Given the description of an element on the screen output the (x, y) to click on. 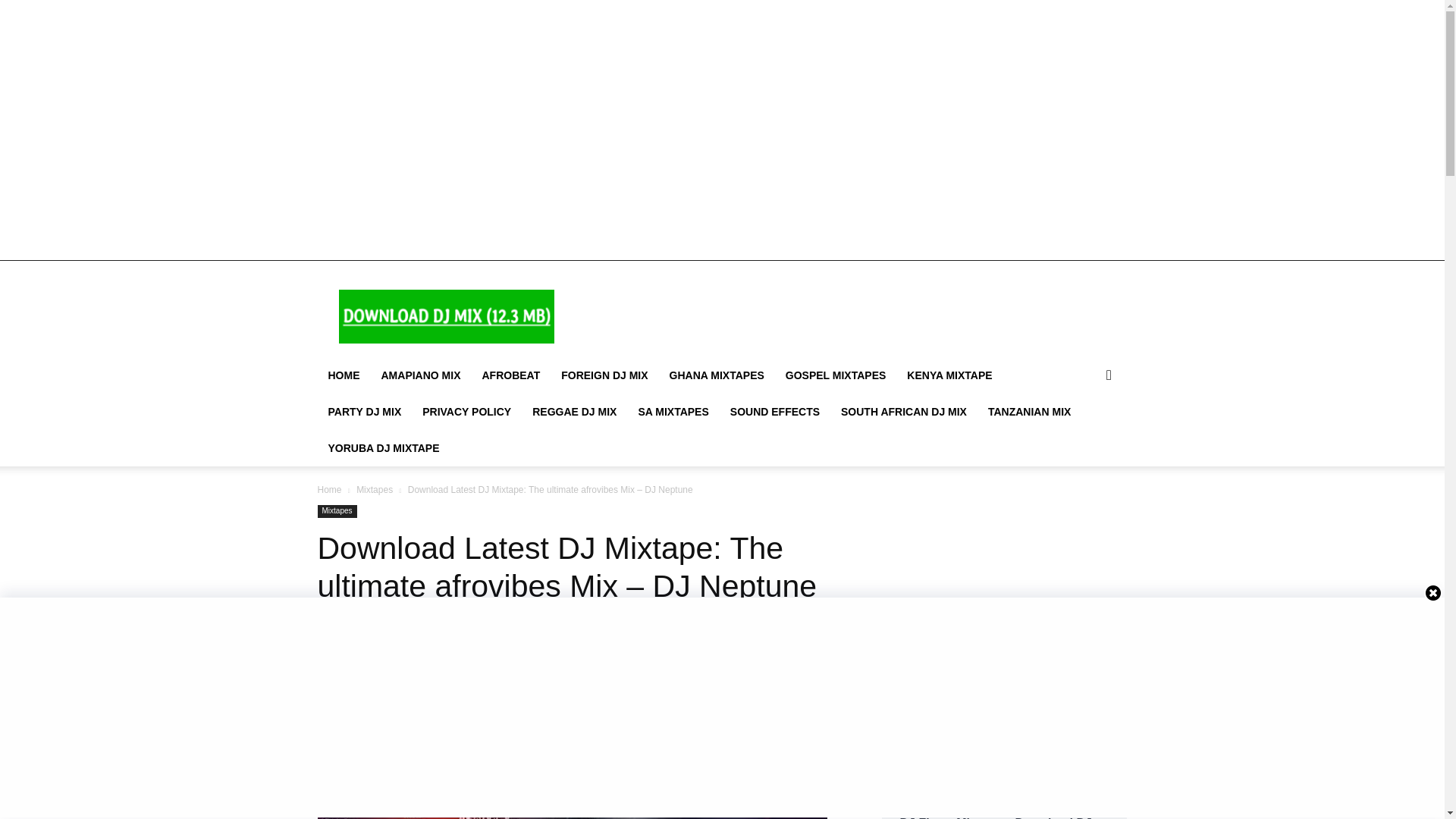
KENYA MIXTAPE (949, 375)
YORUBA DJ MIXTAPE (383, 447)
PARTY DJ MIX (364, 411)
Mixtapes (374, 489)
AMAPIANO MIX (419, 375)
TANZANIAN MIX (1028, 411)
GHANA MIXTAPES (716, 375)
GOSPEL MIXTAPES (835, 375)
Dj-Neptune-Uk-The-Ultimate-Afrobeat-Vibes (572, 756)
AFROBEAT (511, 375)
REGGAE DJ MIX (574, 411)
SOUTH AFRICAN DJ MIX (902, 411)
PRIVACY POLICY (466, 411)
FOREIGN DJ MIX (604, 375)
